Given the description of an element on the screen output the (x, y) to click on. 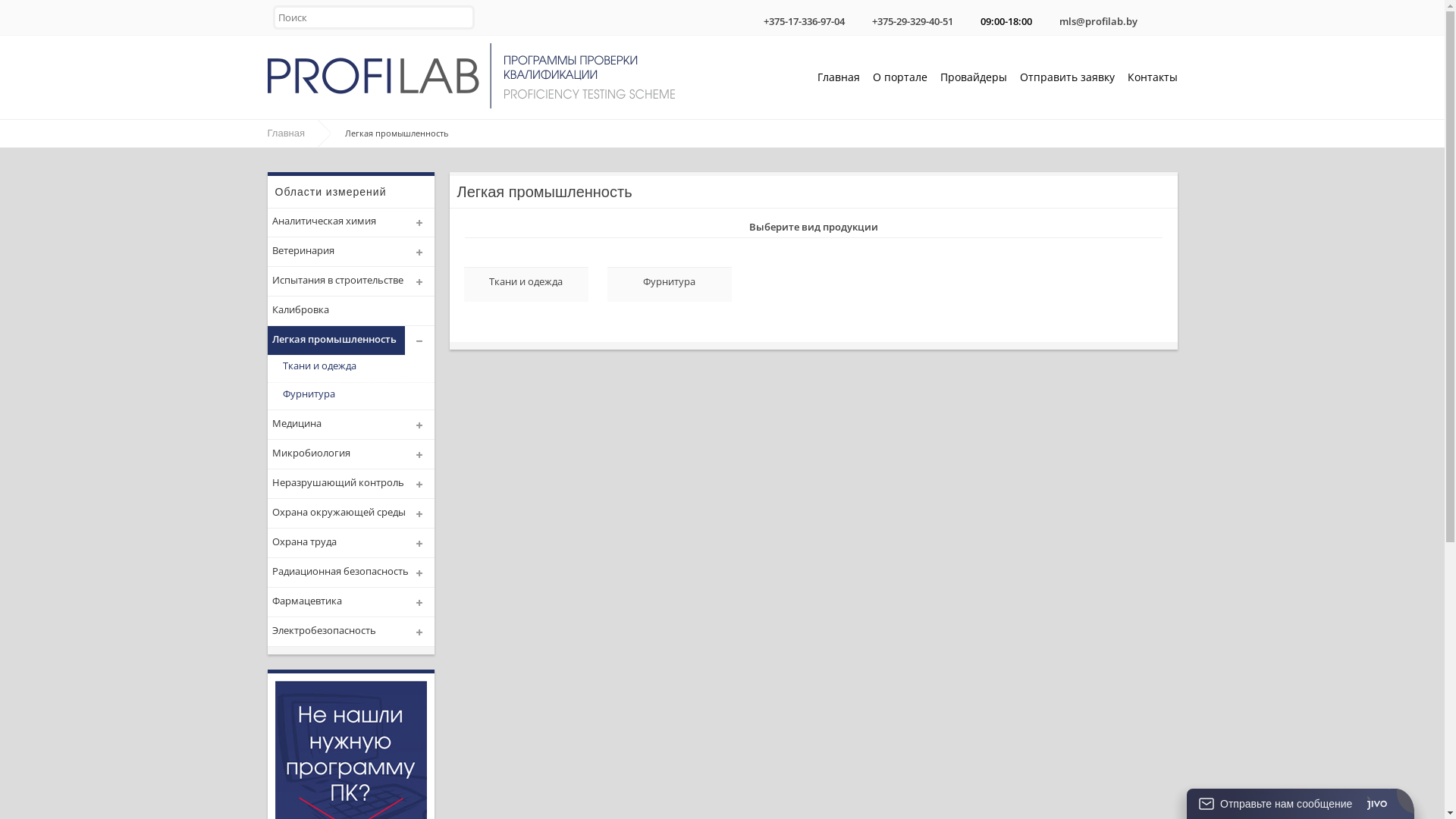
Work Time Element type: hover (969, 16)
mls@profilab.by Element type: text (1097, 21)
+375-29-329-40-51 Element type: text (912, 21)
Email Element type: hover (1048, 16)
Phone Element type: hover (752, 16)
+375-17-336-97-04 Element type: text (803, 21)
Mobile Element type: hover (860, 16)
